Given the description of an element on the screen output the (x, y) to click on. 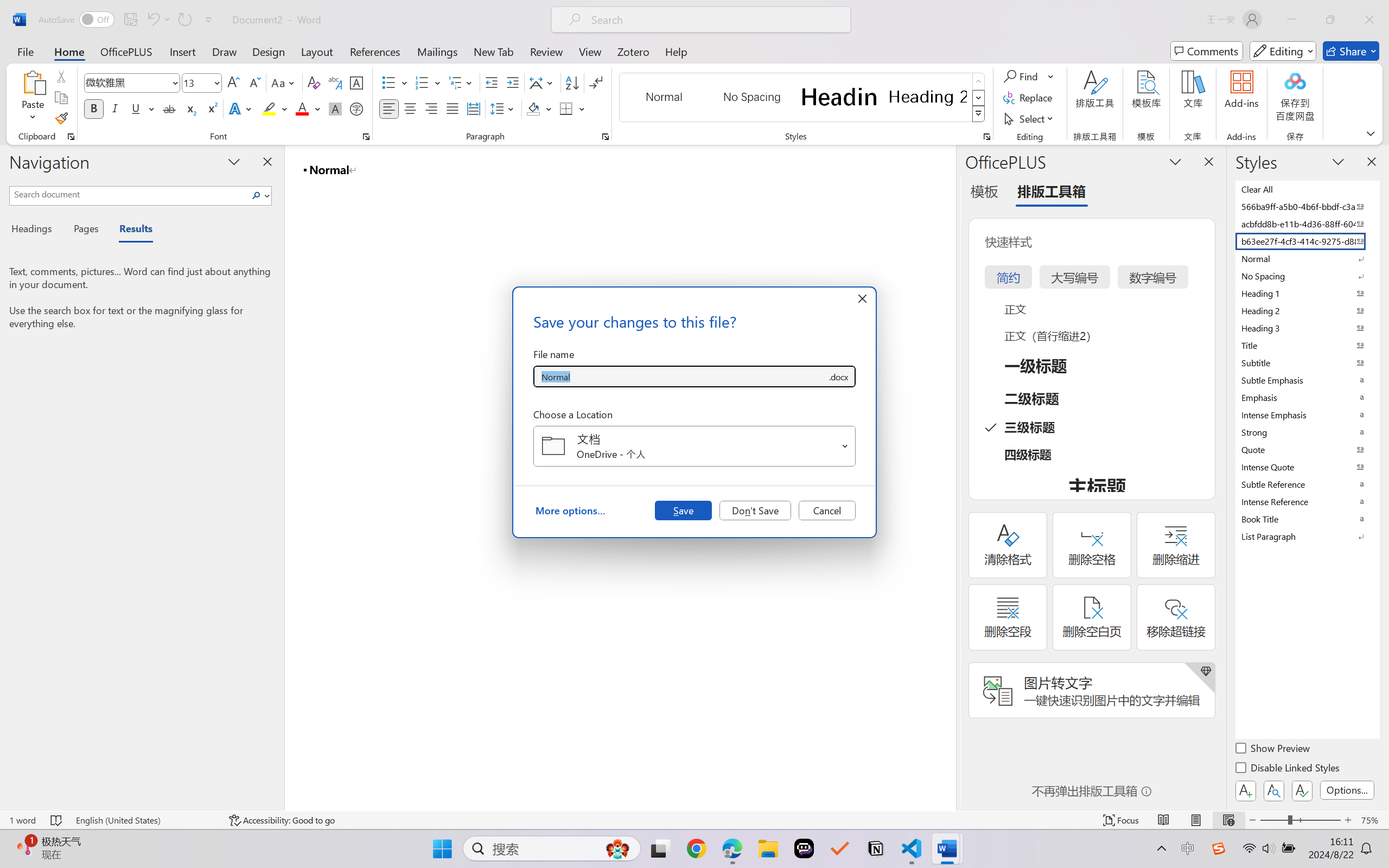
Design (268, 51)
Text Highlight Color (274, 108)
Change Case (284, 82)
Normal (1306, 258)
Cancel (826, 509)
Undo <ApplyStyleToDoc>b__0 (152, 19)
Row Down (978, 97)
Search document (128, 193)
Shrink Font (253, 82)
